Given the description of an element on the screen output the (x, y) to click on. 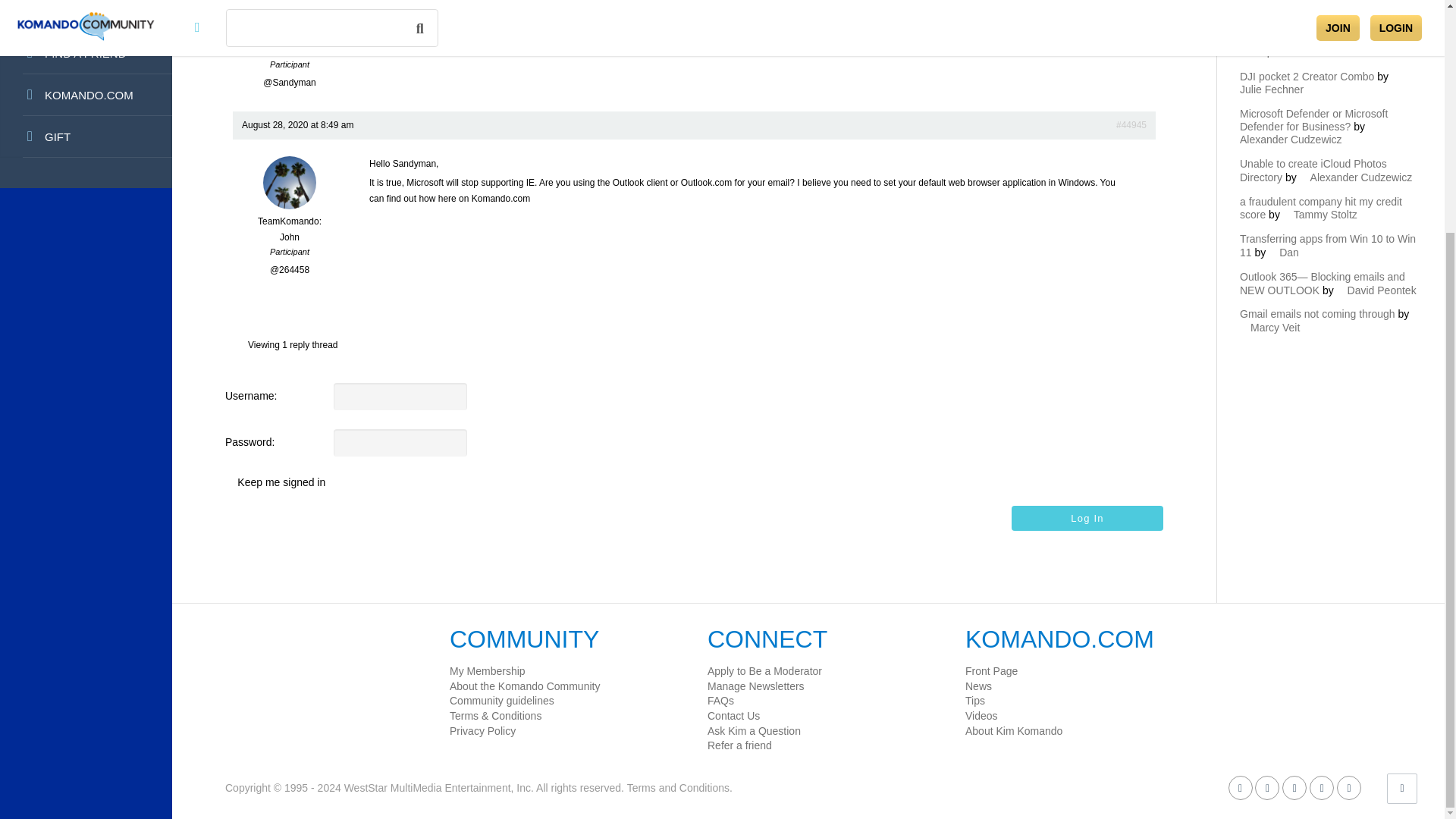
GIFT (85, 137)
FIND A FRIEND (85, 53)
View David Morris's profile (1346, 3)
Reply To: Outlook opens in IE (1131, 124)
View TeamKomando:John's profile (289, 221)
KOMANDO.COM (85, 95)
View Julie Fechner's profile (1321, 82)
View Sandyman's profile (289, 27)
View Jim Thompson's profile (1318, 44)
